Given the description of an element on the screen output the (x, y) to click on. 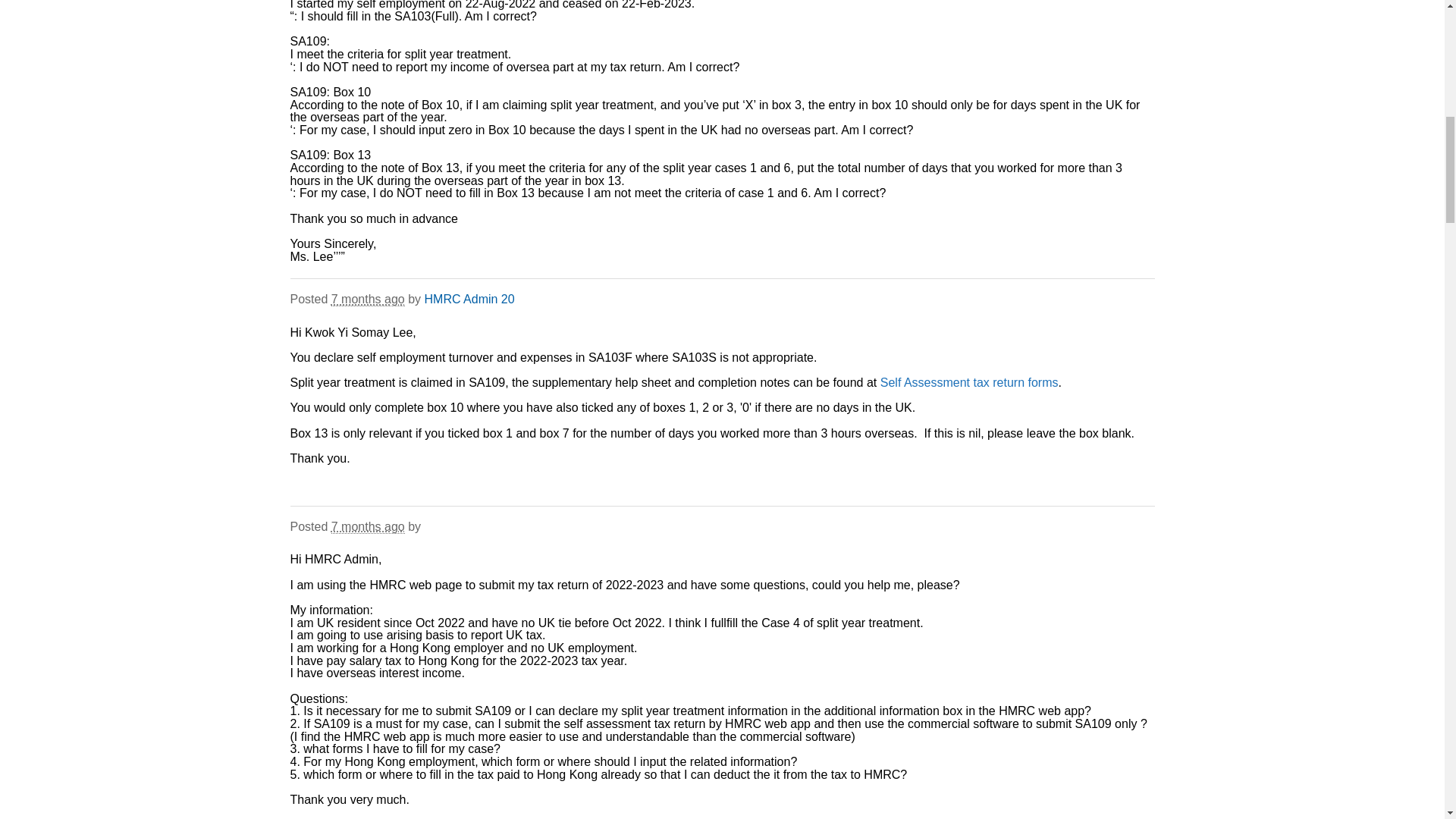
Self Assessment tax return forms (969, 382)
HMRC Admin 20 (470, 298)
HMRC Admin 20 (470, 298)
